Given the description of an element on the screen output the (x, y) to click on. 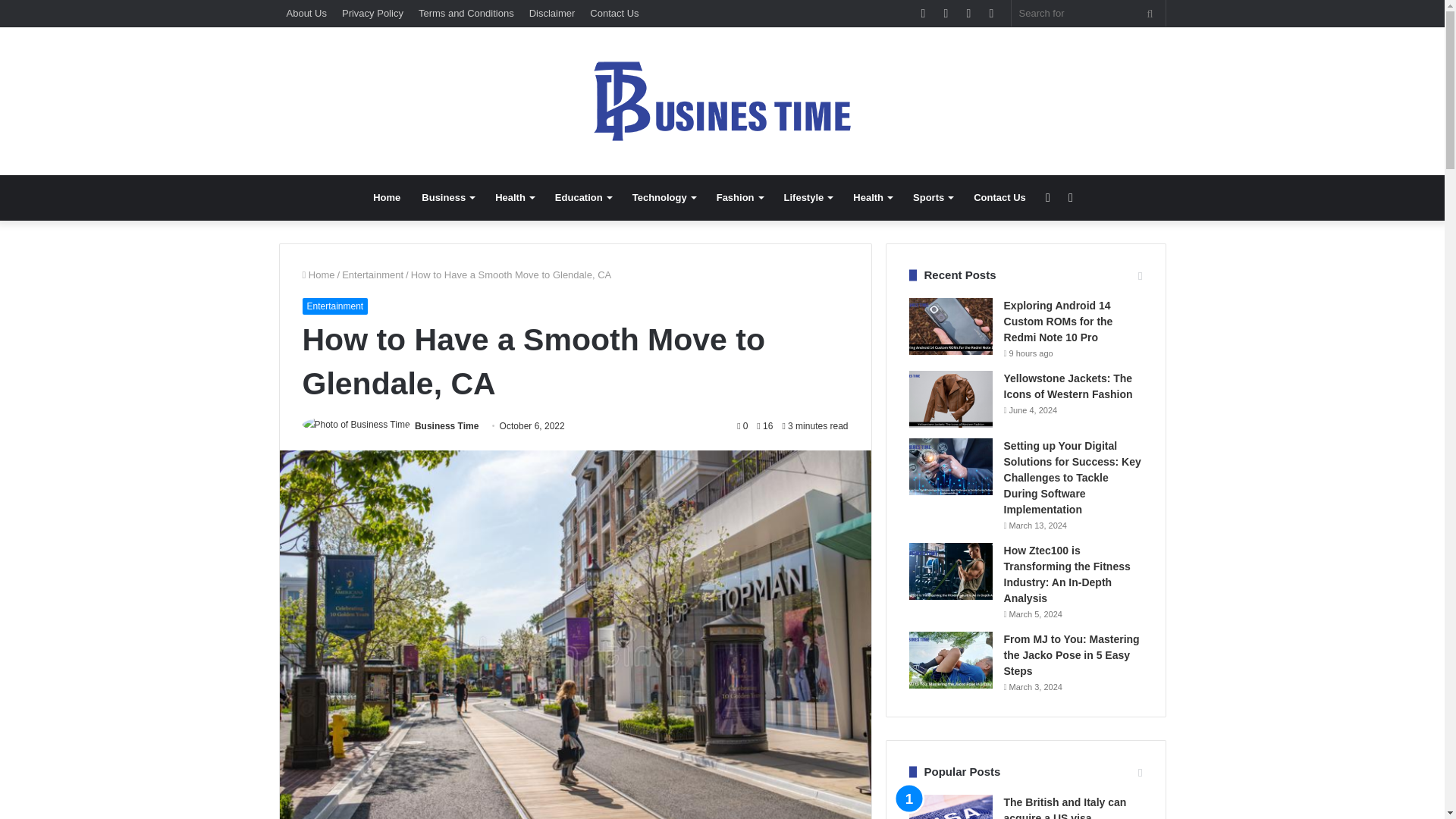
Terms and Conditions (465, 13)
Busines Time (722, 100)
Entertainment (372, 274)
Lifestyle (808, 197)
Search for (1088, 13)
Business Time (446, 425)
Contact Us (614, 13)
About Us (306, 13)
Business (447, 197)
Entertainment (334, 306)
